Given the description of an element on the screen output the (x, y) to click on. 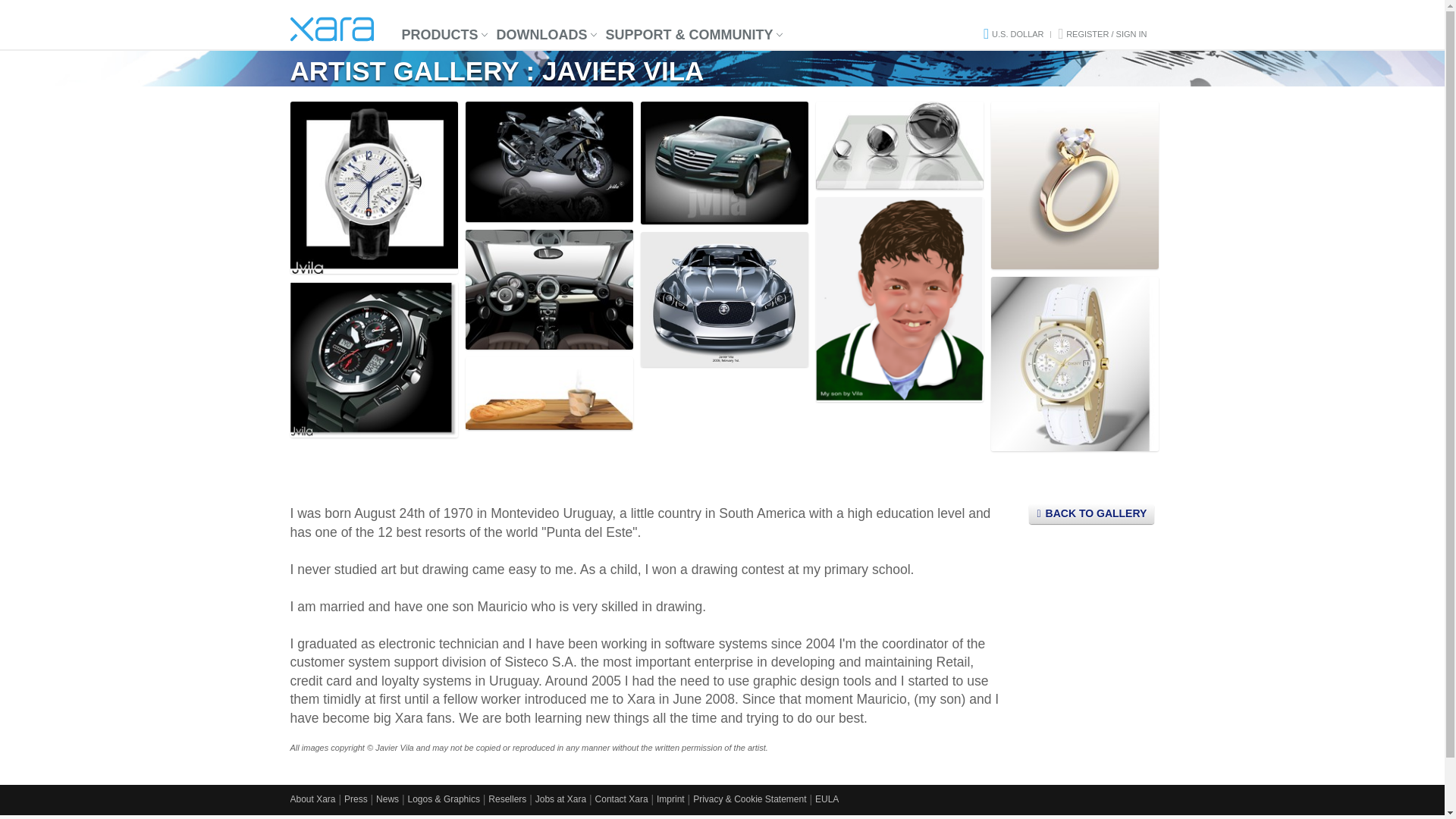
U.S. DOLLAR (1017, 33)
DOWNLOADS (541, 35)
Xara  (330, 28)
PRODUCTS (440, 35)
